Given the description of an element on the screen output the (x, y) to click on. 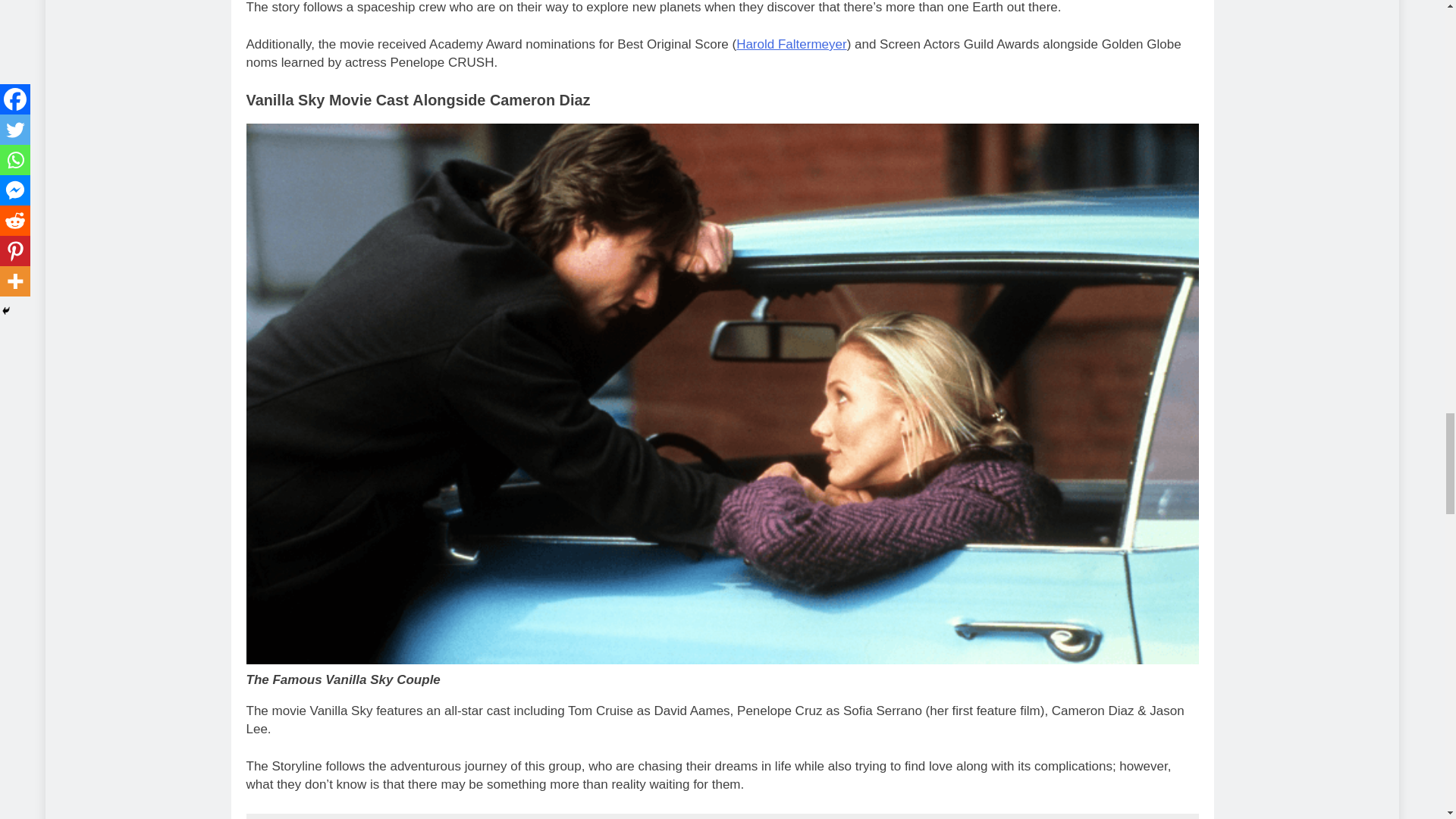
Harold Faltermeyer (791, 43)
